Given the description of an element on the screen output the (x, y) to click on. 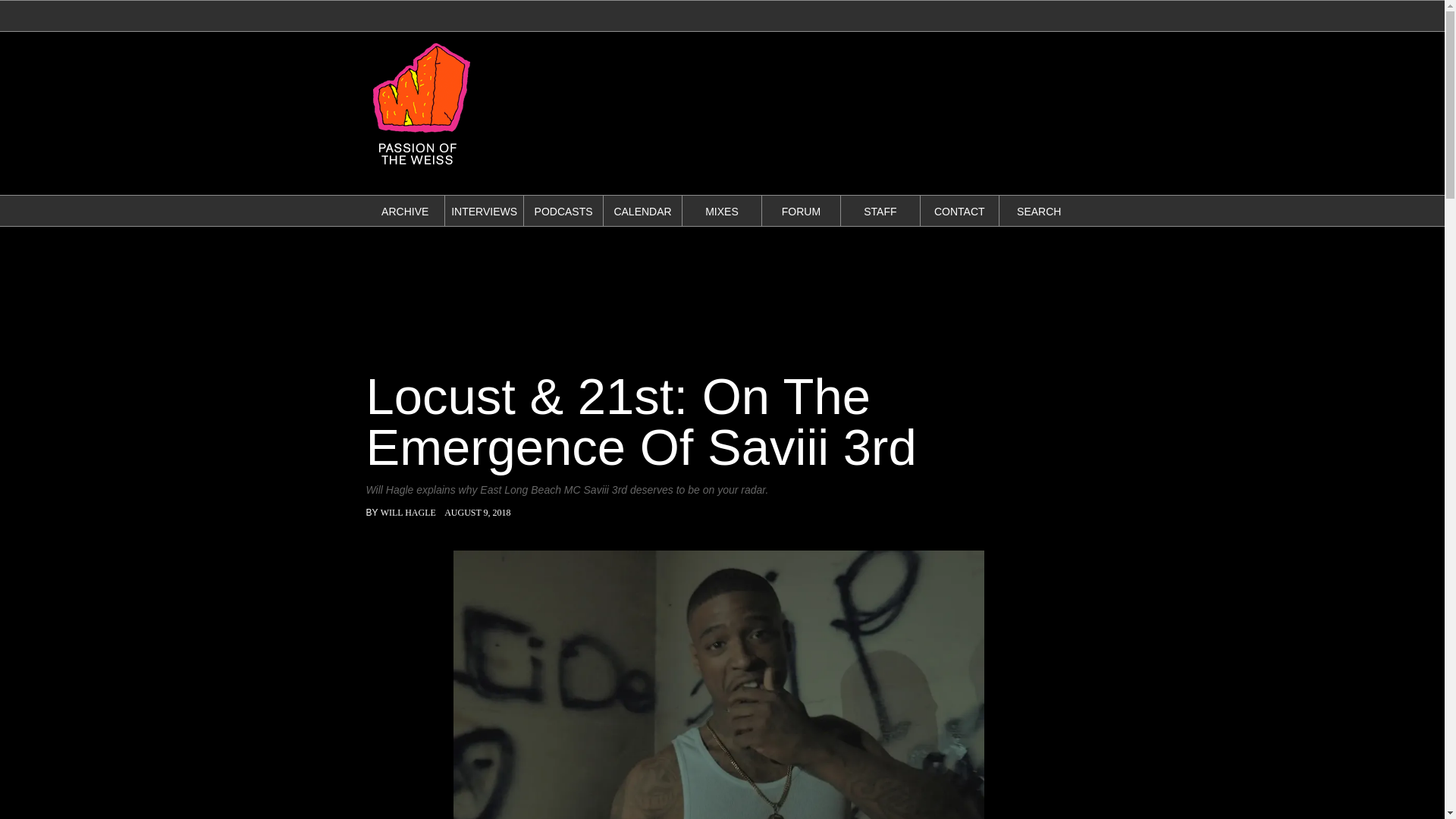
INTERVIEWS (483, 211)
Passion of the Weiss (420, 168)
STAFF (879, 211)
MIXES (721, 211)
SEARCH (1038, 211)
Posts by Will Hagle (407, 511)
ARCHIVE (404, 211)
WILL HAGLE (407, 511)
CALENDAR (641, 211)
FORUM (801, 211)
